Given the description of an element on the screen output the (x, y) to click on. 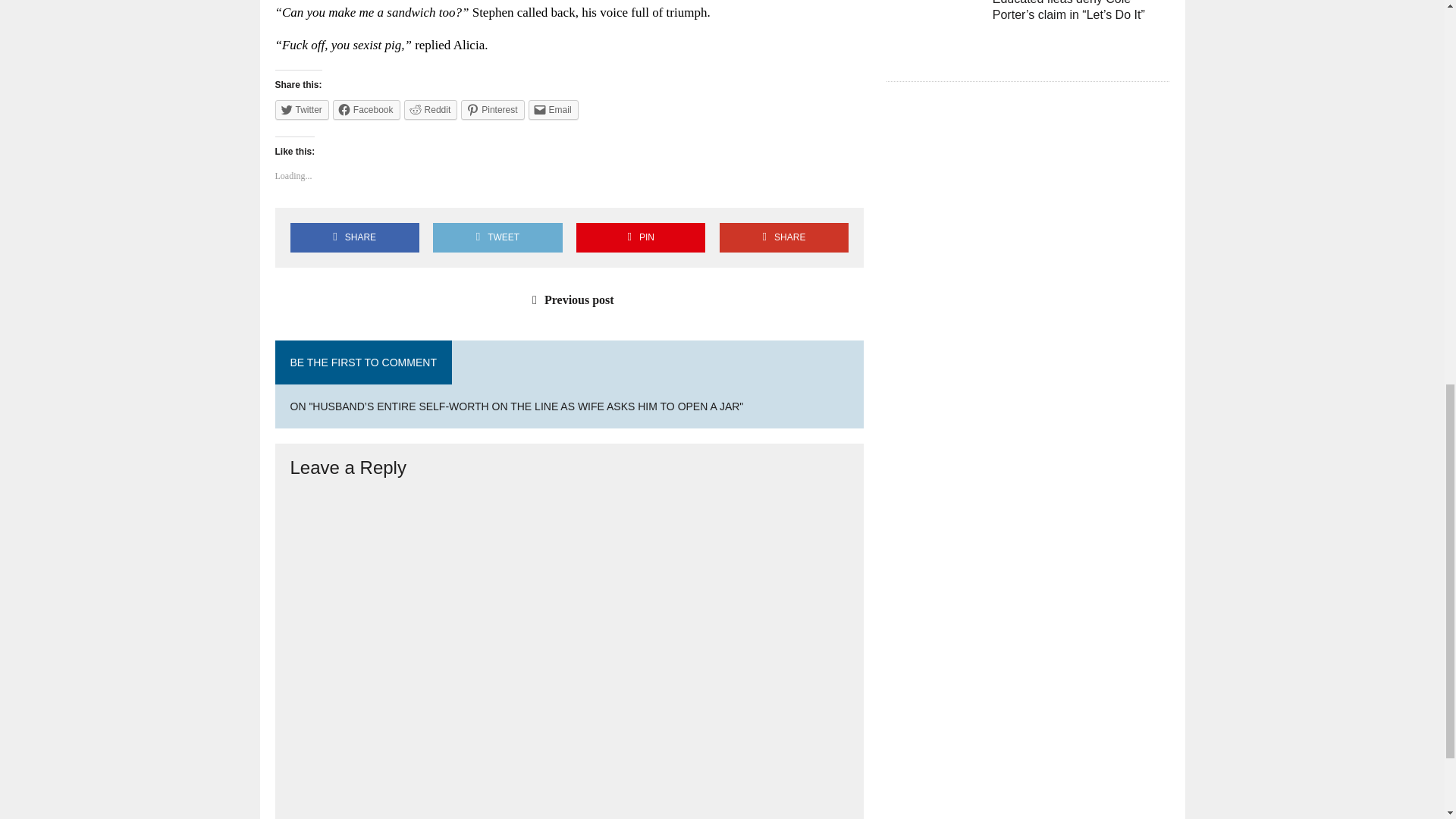
PIN (640, 237)
Pin This Post (640, 237)
Twitter (302, 109)
Click to share on Facebook (366, 109)
Tweet This Post (497, 237)
Facebook (366, 109)
Click to email this to a friend (553, 109)
Share on Facebook (354, 237)
SHARE (783, 237)
TWEET (497, 237)
